Given the description of an element on the screen output the (x, y) to click on. 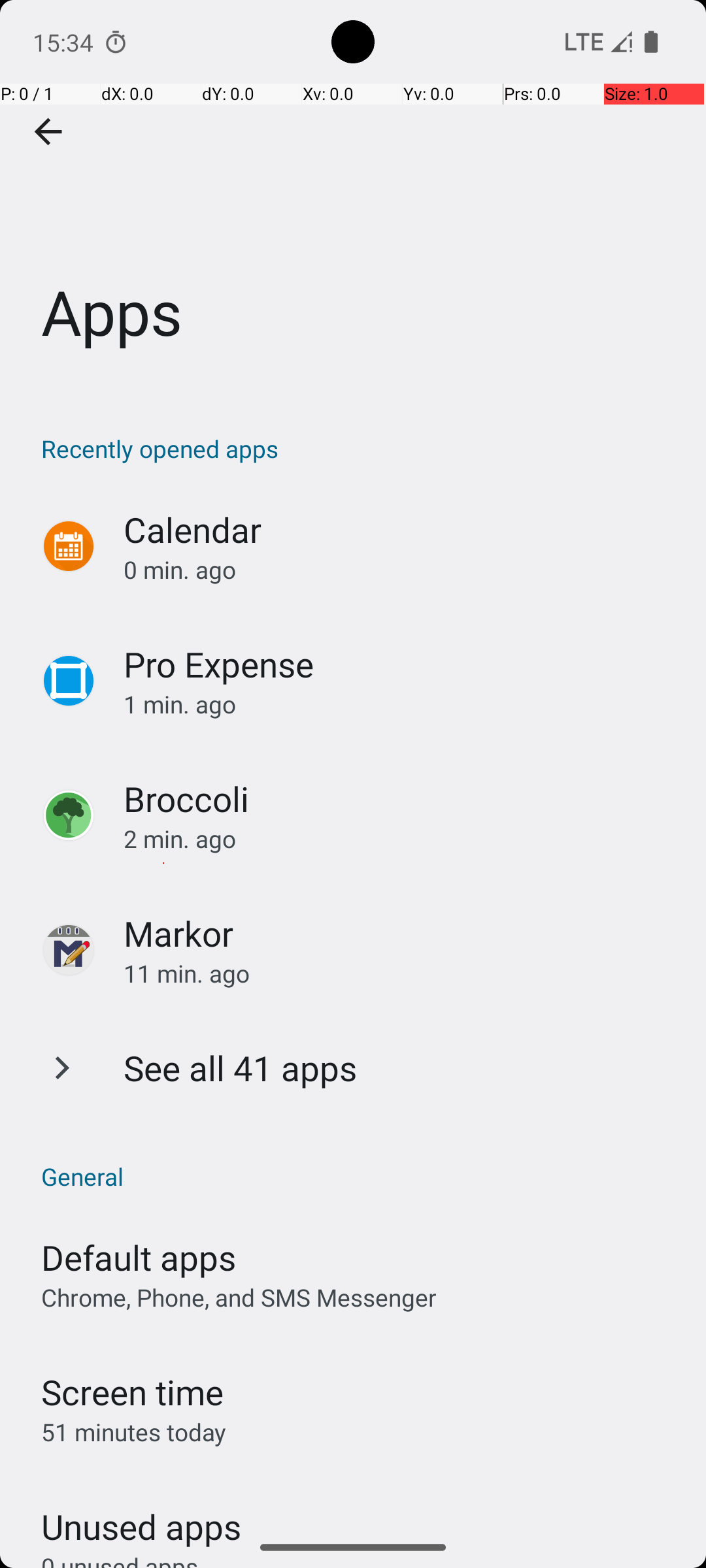
0 min. ago Element type: android.widget.TextView (400, 569)
1 min. ago Element type: android.widget.TextView (400, 703)
2 min. ago Element type: android.widget.TextView (400, 838)
11 min. ago Element type: android.widget.TextView (400, 972)
51 minutes today Element type: android.widget.TextView (133, 1431)
